Given the description of an element on the screen output the (x, y) to click on. 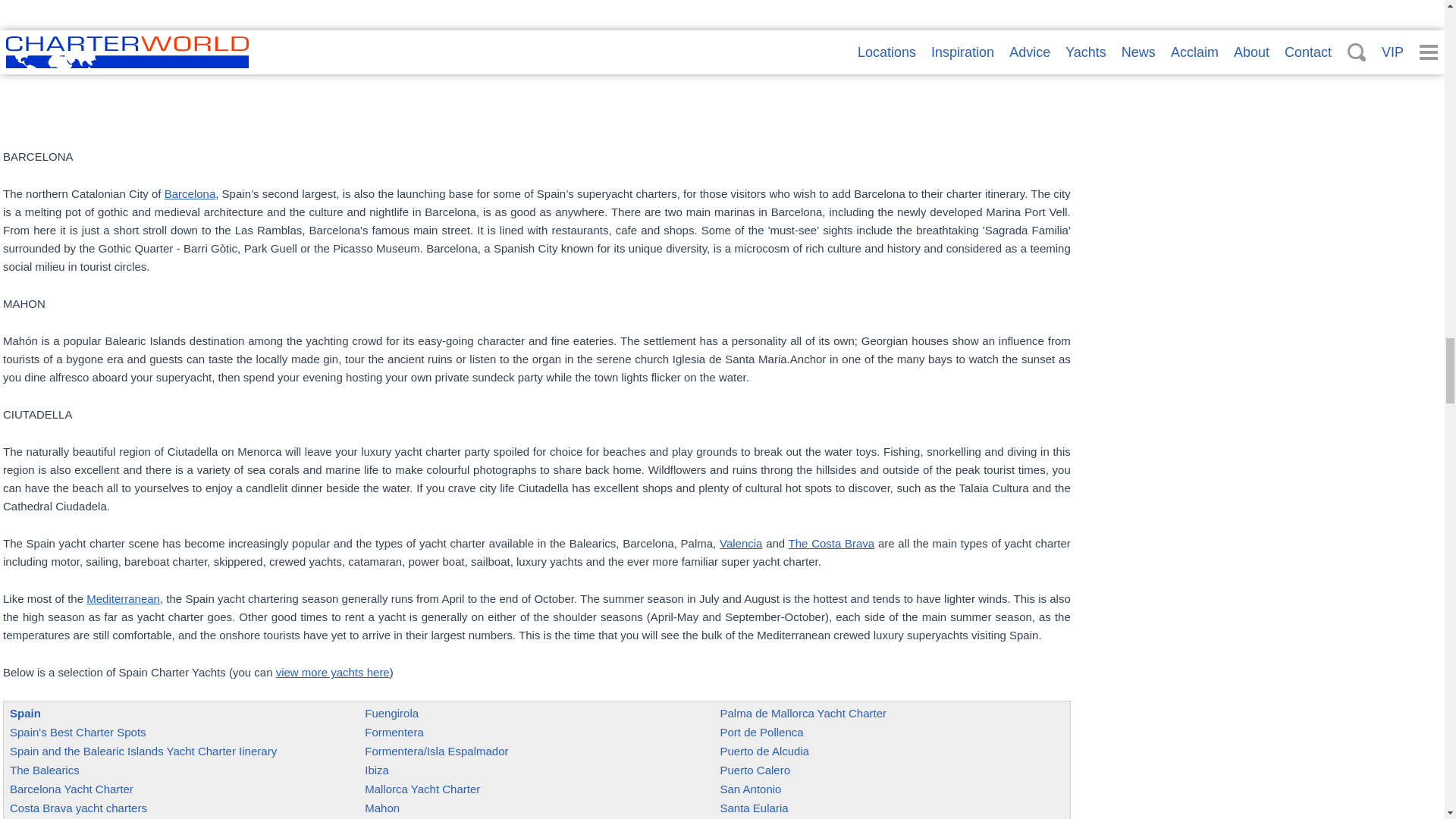
The Costa Brava (832, 543)
Valencia (740, 543)
Barcelona (189, 193)
